Given the description of an element on the screen output the (x, y) to click on. 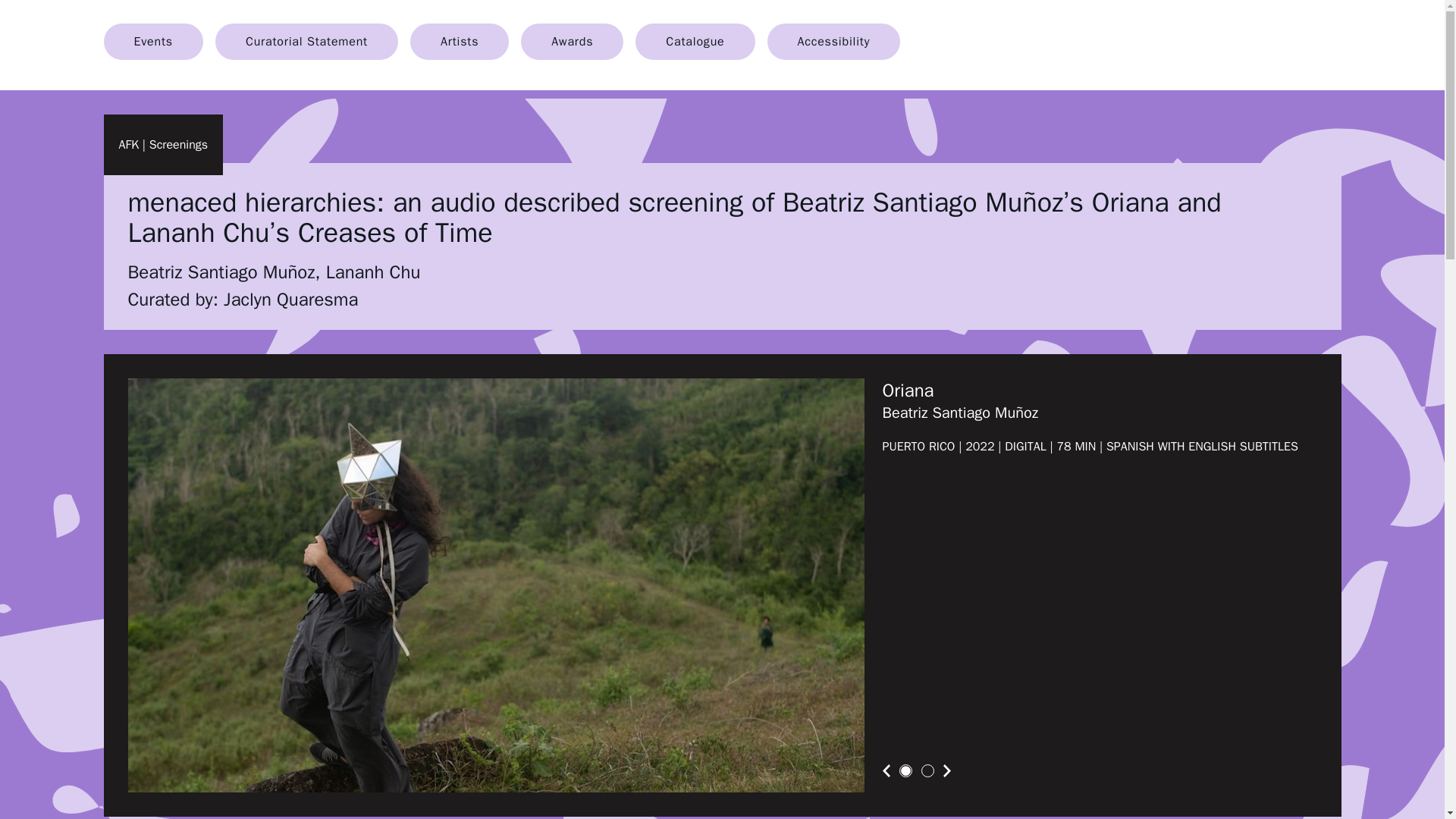
Curatorial Statement (306, 41)
Awards (572, 41)
Accessibility (834, 41)
Events (152, 41)
Catalogue (694, 41)
Artists (459, 41)
